Given the description of an element on the screen output the (x, y) to click on. 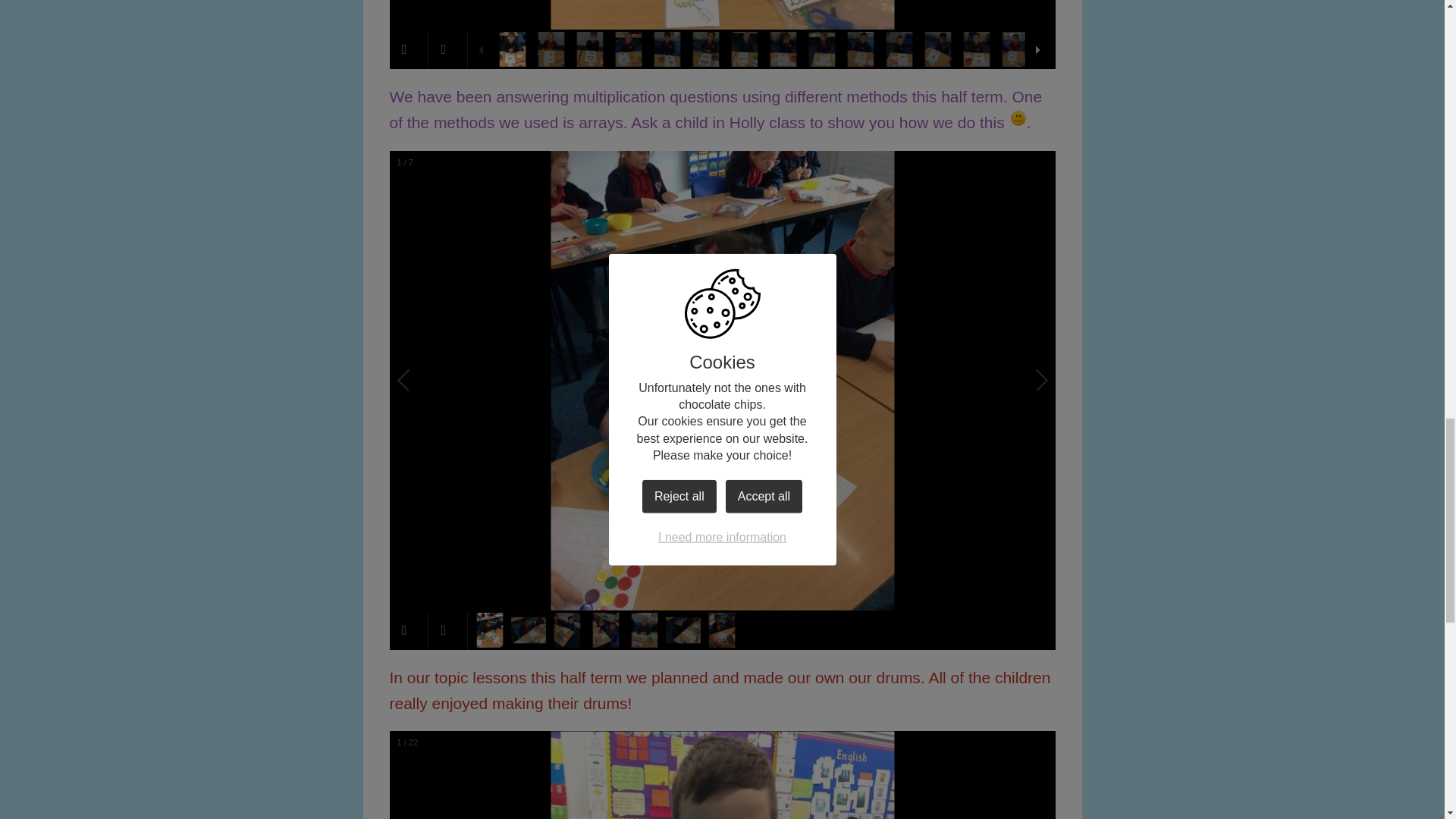
smiley (1017, 118)
